Given the description of an element on the screen output the (x, y) to click on. 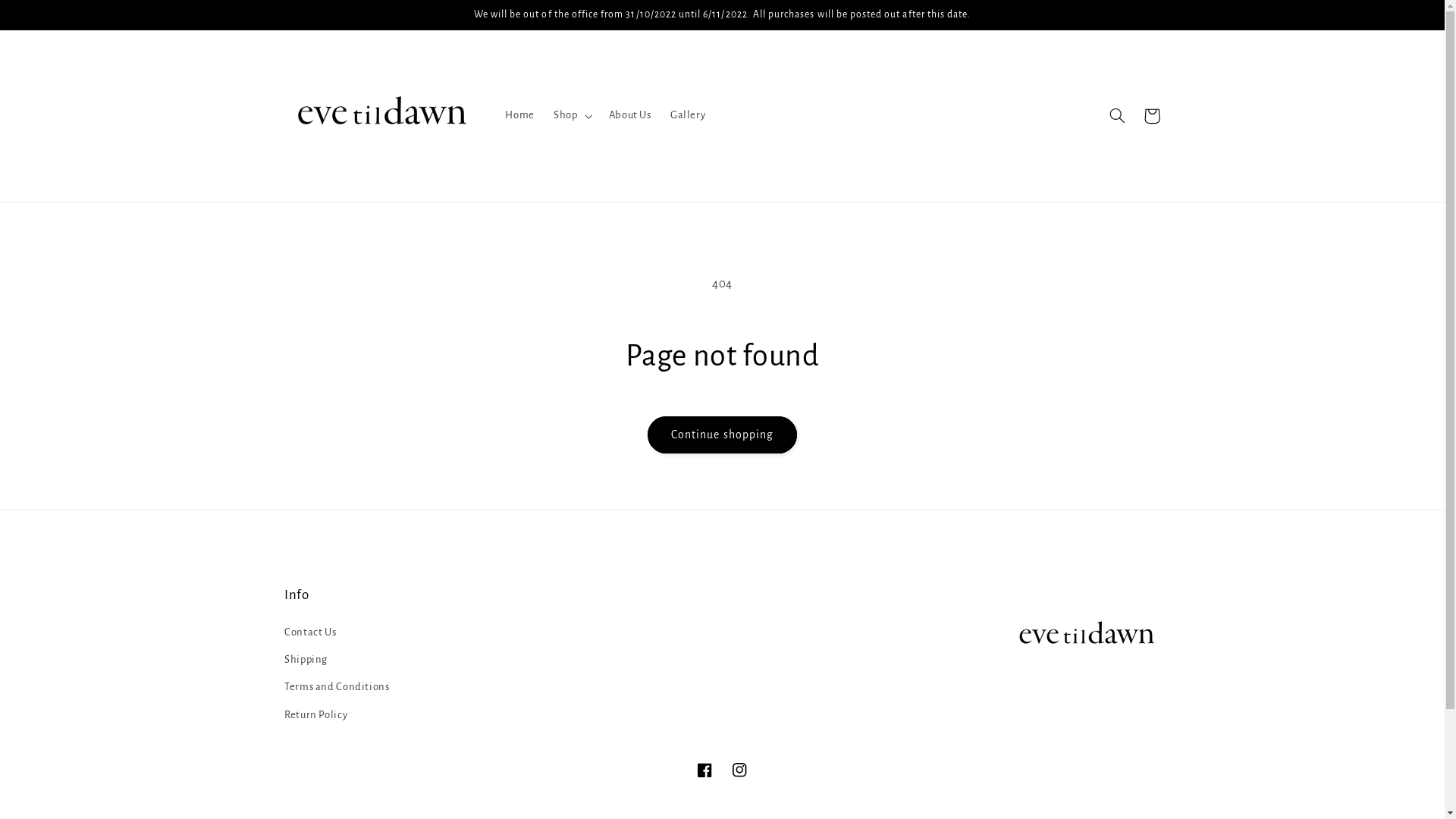
Terms and Conditions Element type: text (336, 686)
Cart Element type: text (1151, 115)
Shipping Element type: text (305, 659)
About Us Element type: text (629, 115)
Facebook Element type: text (704, 769)
Home Element type: text (519, 115)
Gallery Element type: text (687, 115)
Instagram Element type: text (738, 769)
Contact Us Element type: text (309, 634)
Continue shopping Element type: text (722, 434)
Return Policy Element type: text (315, 714)
